Given the description of an element on the screen output the (x, y) to click on. 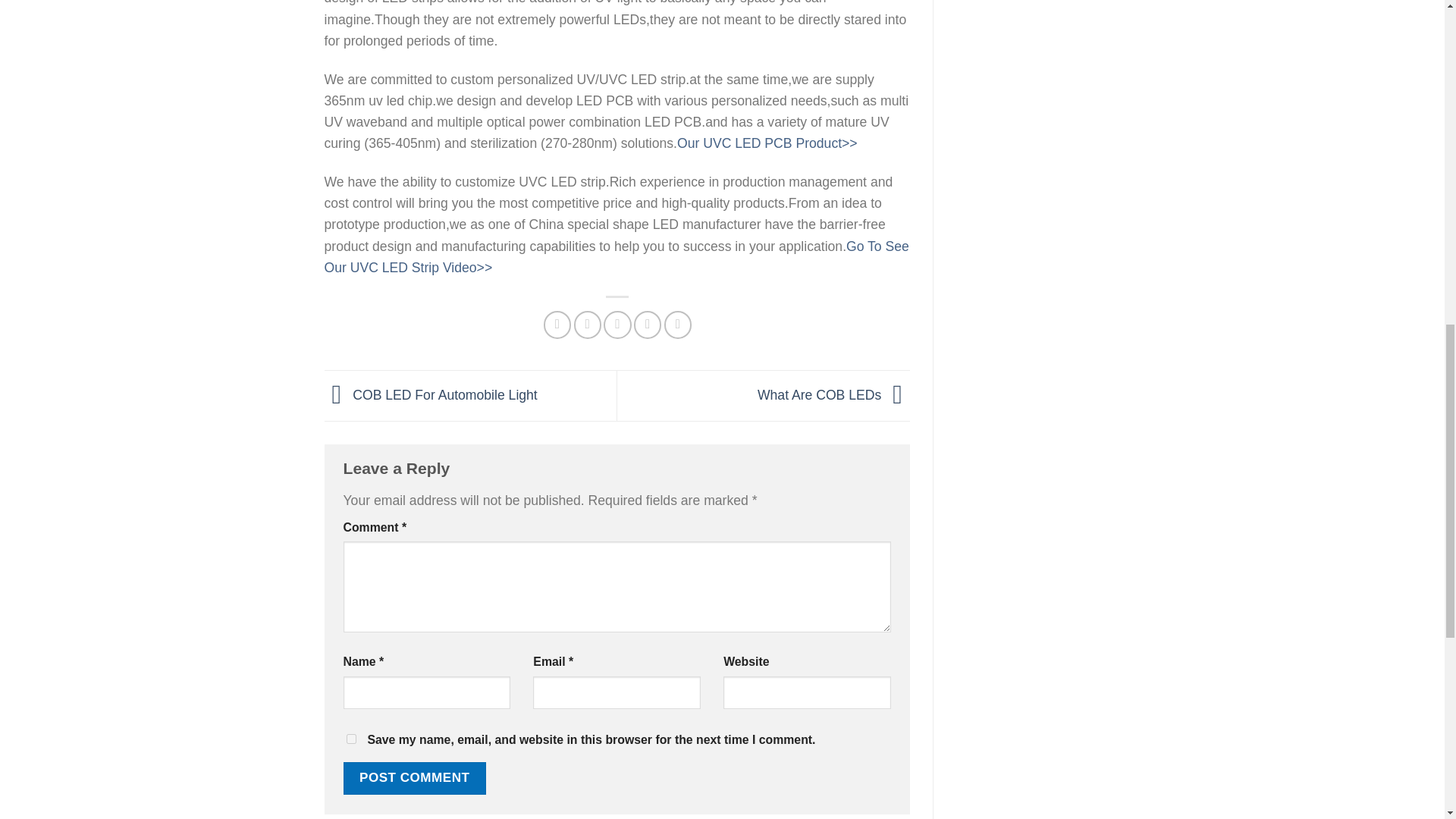
Pin on Pinterest (647, 324)
Post Comment (413, 778)
Post Comment (413, 778)
Share on LinkedIn (677, 324)
yes (350, 738)
Share on Twitter (587, 324)
Email to a Friend (617, 324)
What Are COB LEDs (833, 394)
Share on Facebook (556, 324)
COB LED For Automobile Light (430, 394)
